Given the description of an element on the screen output the (x, y) to click on. 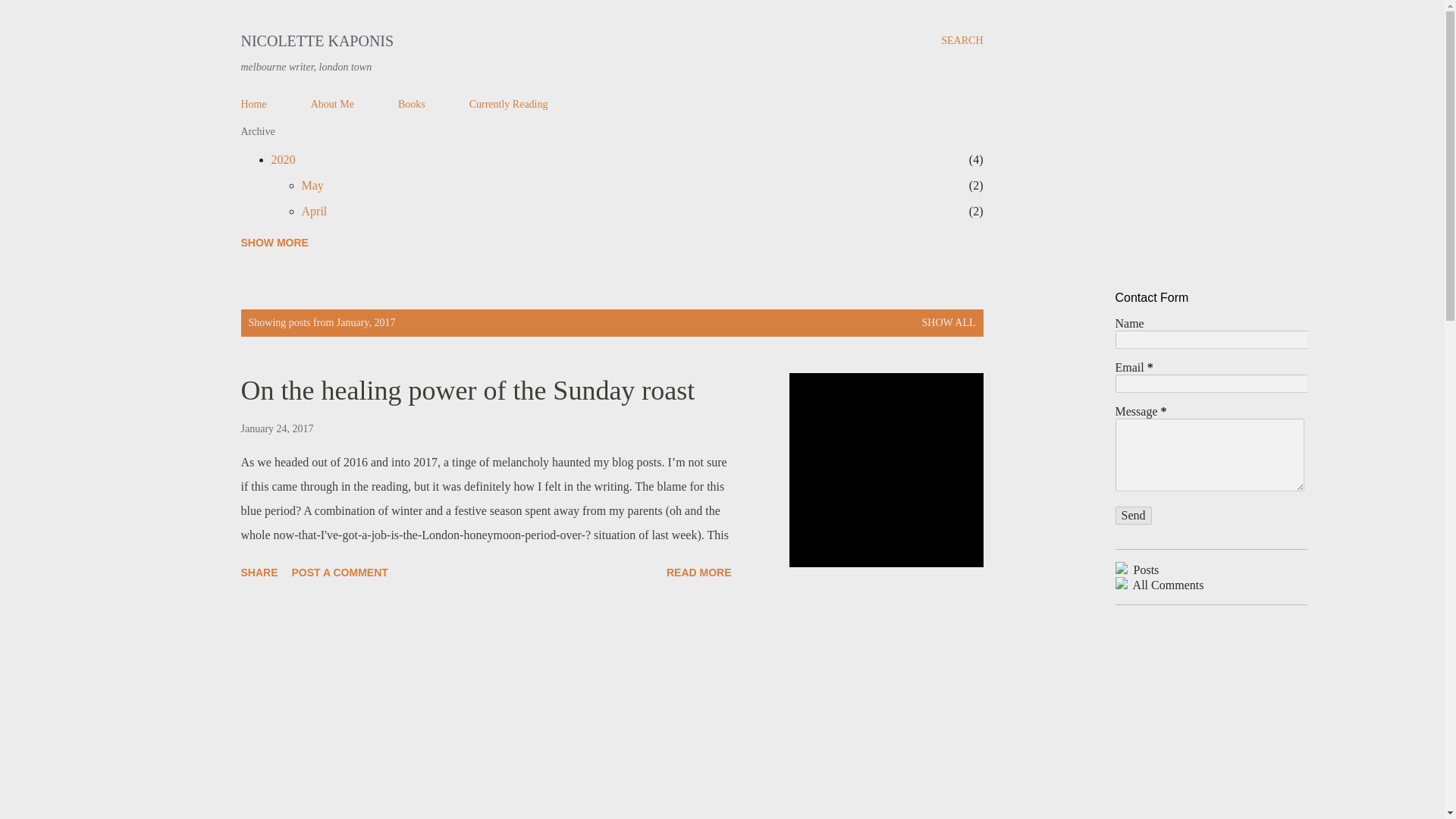
Currently Reading (282, 159)
Books (508, 103)
About Me (410, 103)
permanent link (312, 185)
Send (331, 103)
On the healing power of the Sunday roast (277, 428)
Home (1133, 515)
NICOLETTE KAPONIS (699, 572)
